Given the description of an element on the screen output the (x, y) to click on. 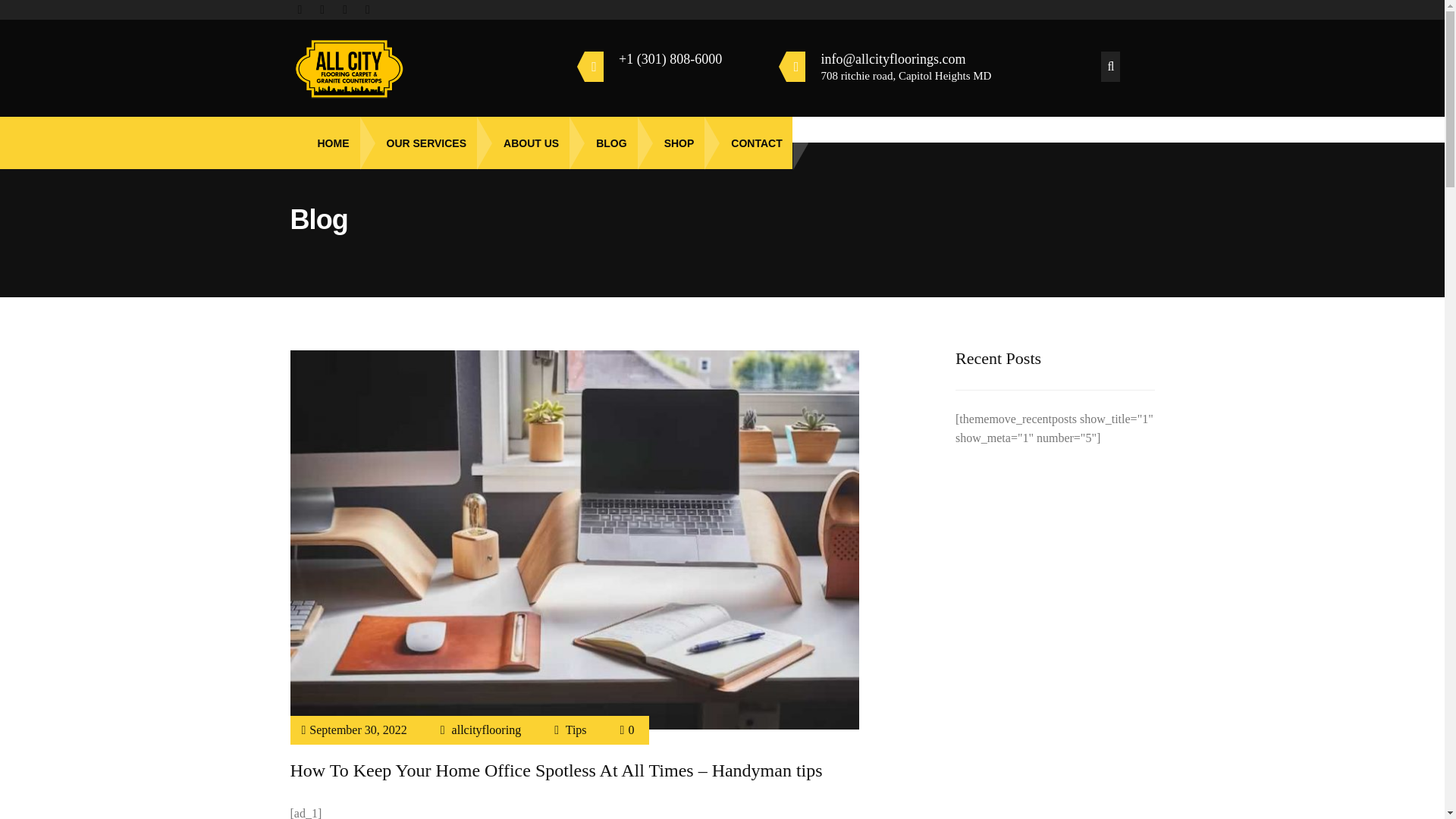
HOME (323, 143)
BLOG (602, 143)
Search (34, 14)
OUR SERVICES (418, 143)
ABOUT US (522, 143)
